Given the description of an element on the screen output the (x, y) to click on. 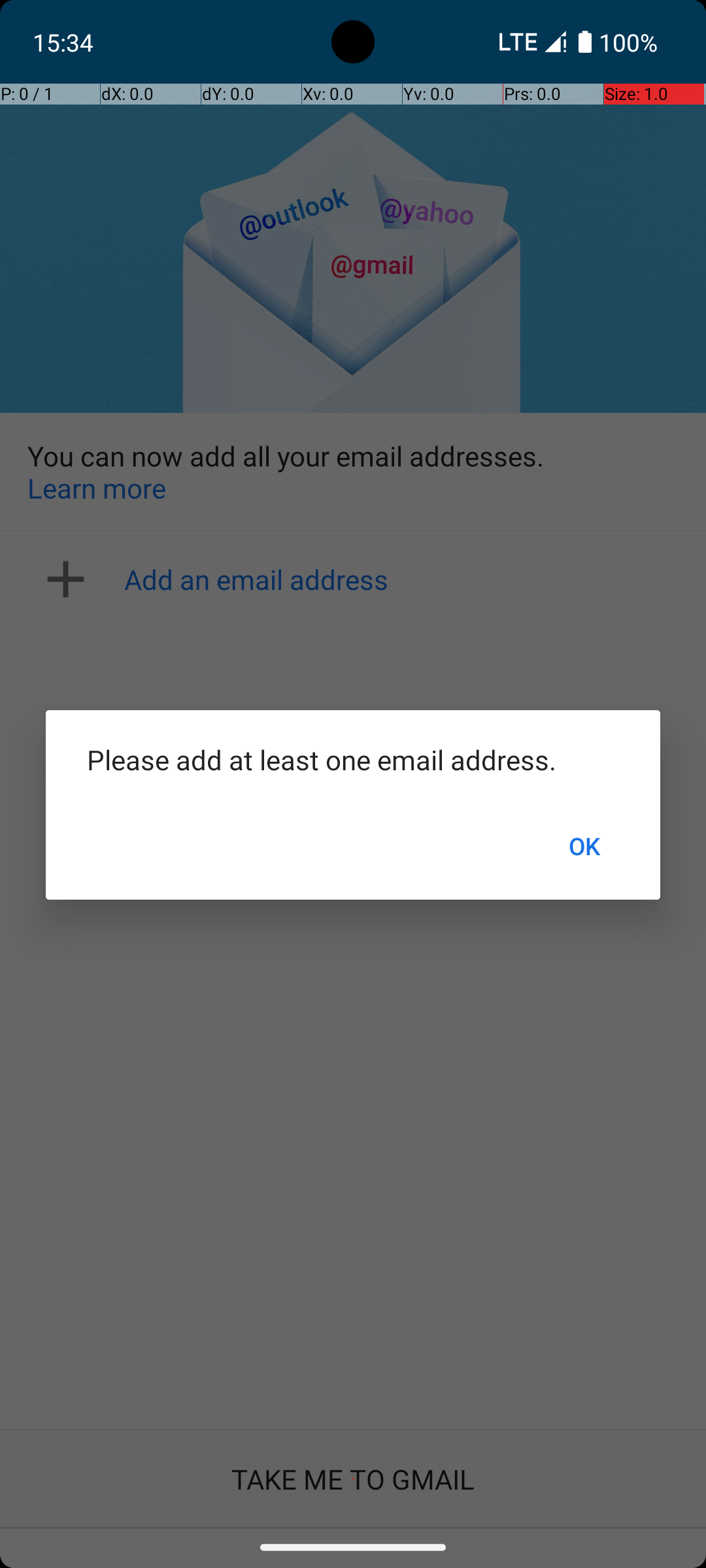
Please add at least one email address. Element type: android.widget.TextView (352, 759)
